Given the description of an element on the screen output the (x, y) to click on. 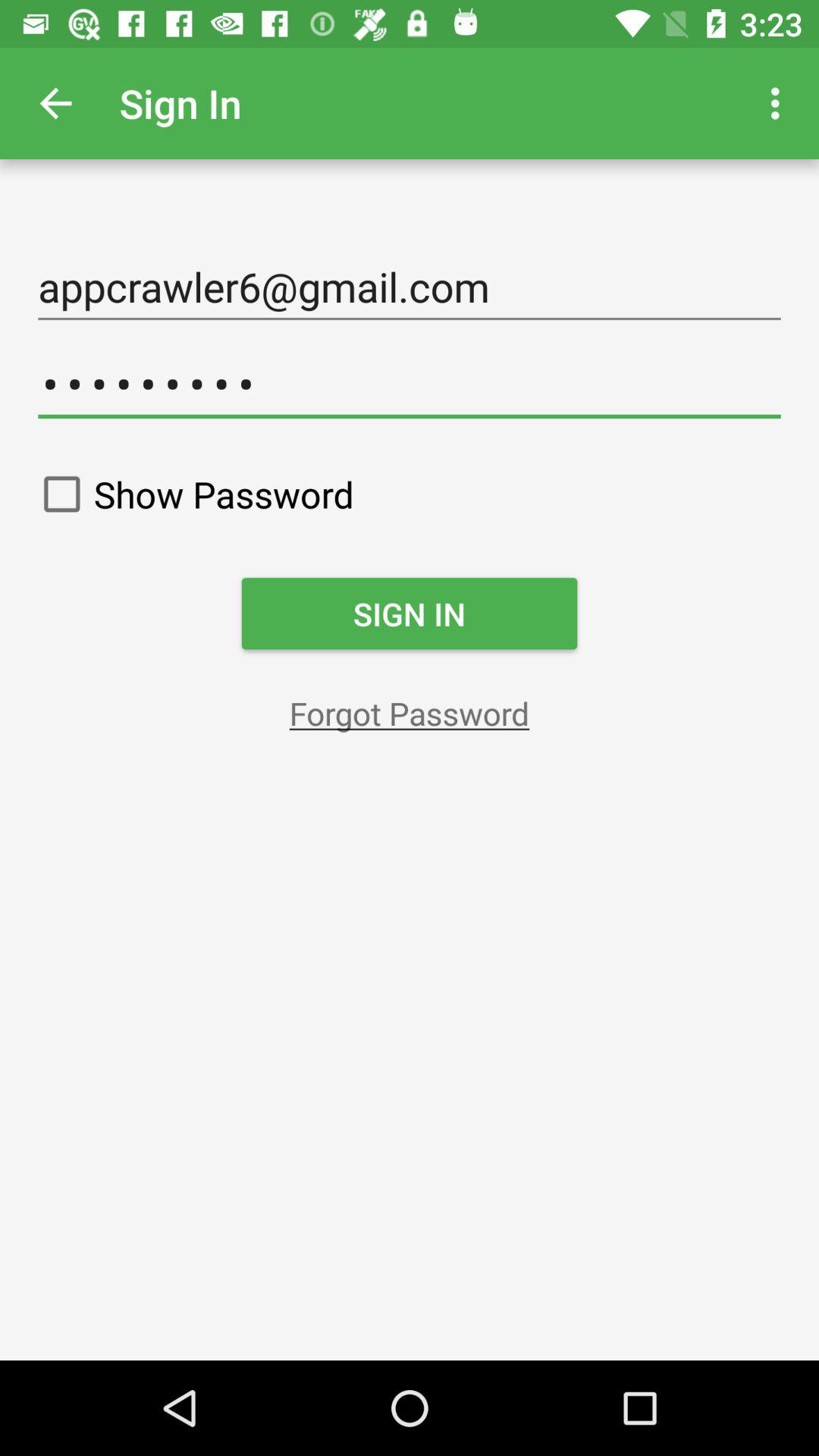
turn off icon below the appcrawler6@gmail.com item (409, 383)
